Given the description of an element on the screen output the (x, y) to click on. 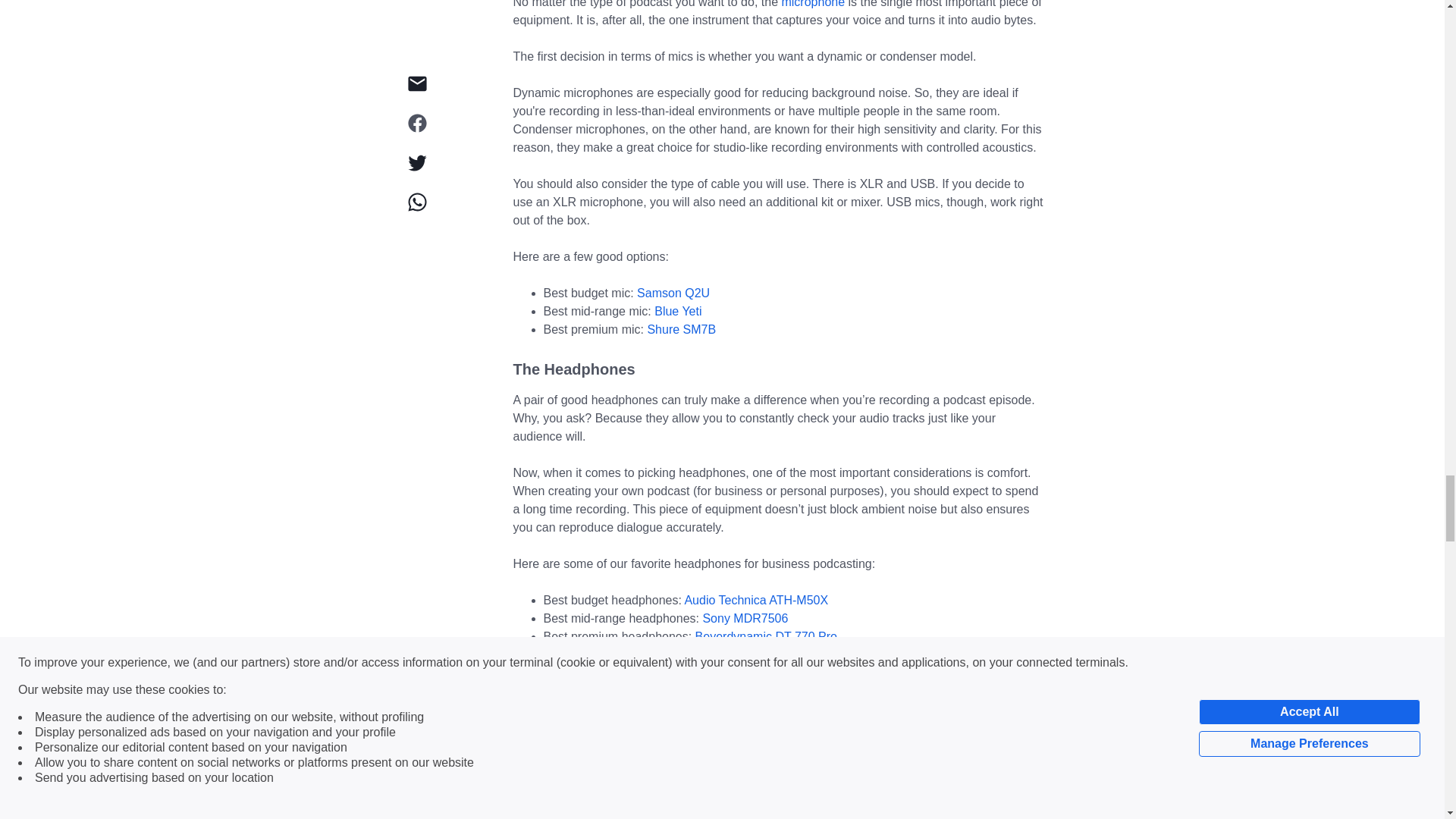
Blue Yeti (675, 310)
Sony MDR7506 (742, 617)
Shure SM7B (679, 328)
Beyerdynamic DT 770 Pro (764, 635)
Samson Q2U (671, 292)
microphone (812, 4)
Audio Technica ATH-M50X (754, 599)
boom arm (618, 814)
